Given the description of an element on the screen output the (x, y) to click on. 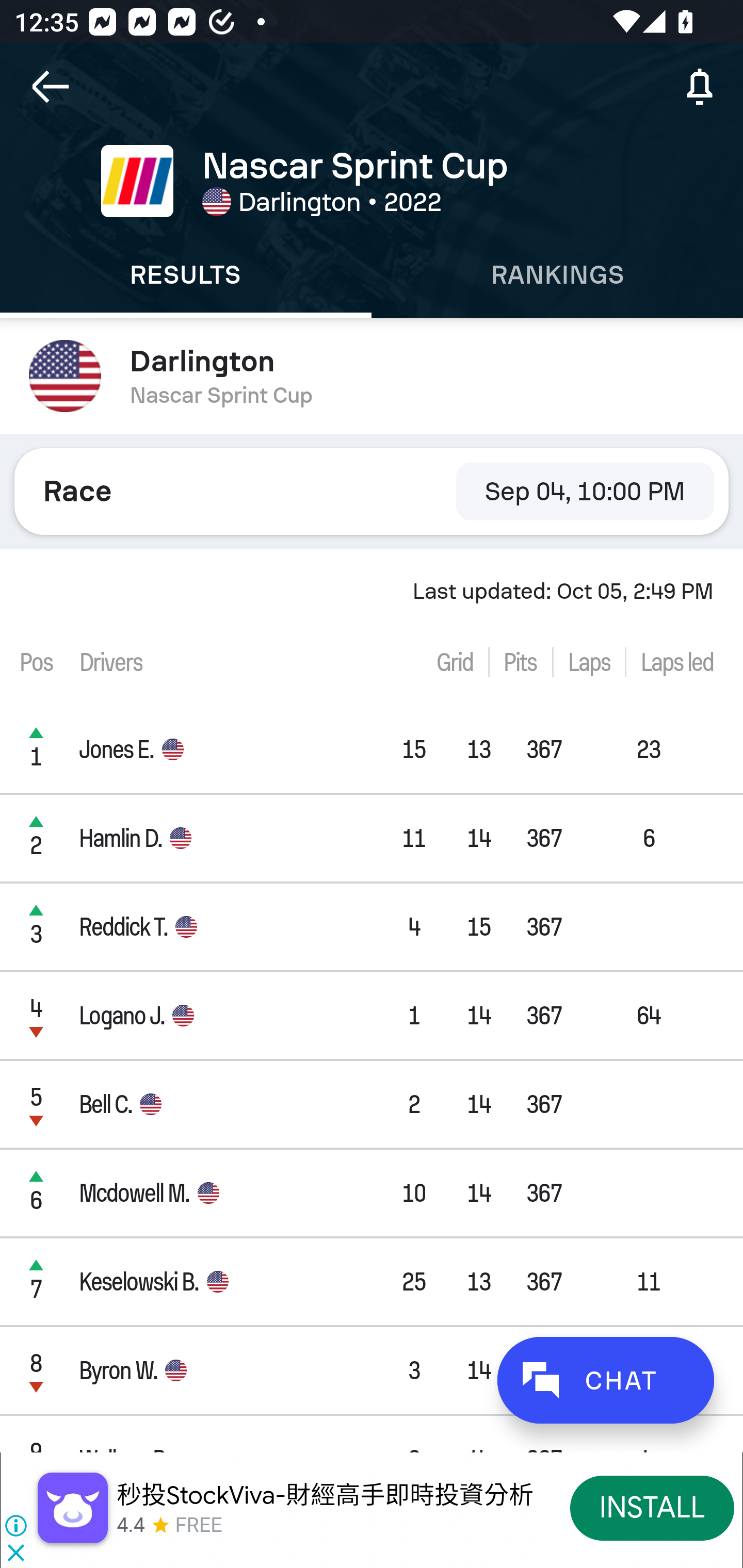
Navigate up (50, 86)
Rankings RANKINGS (557, 275)
Race Sep 04, 10:00 PM (371, 491)
Sep 04, 10:00 PM (585, 491)
1 Jones E. 15 13 367 23 (371, 749)
2 Hamlin D. 11 14 367 6 (371, 837)
3 Reddick T. 4 15 367 (371, 926)
4 Logano J. 1 14 367 64 (371, 1015)
5 Bell C. 2 14 367 (371, 1104)
6 Mcdowell M. 10 14 367 (371, 1192)
7 Keselowski B. 25 13 367 11 (371, 1281)
8 Byron W. 3 14 367 50 (371, 1370)
CHAT (605, 1380)
INSTALL (652, 1507)
秒投StockViva-財經高手即時投資分析 (324, 1494)
